Given the description of an element on the screen output the (x, y) to click on. 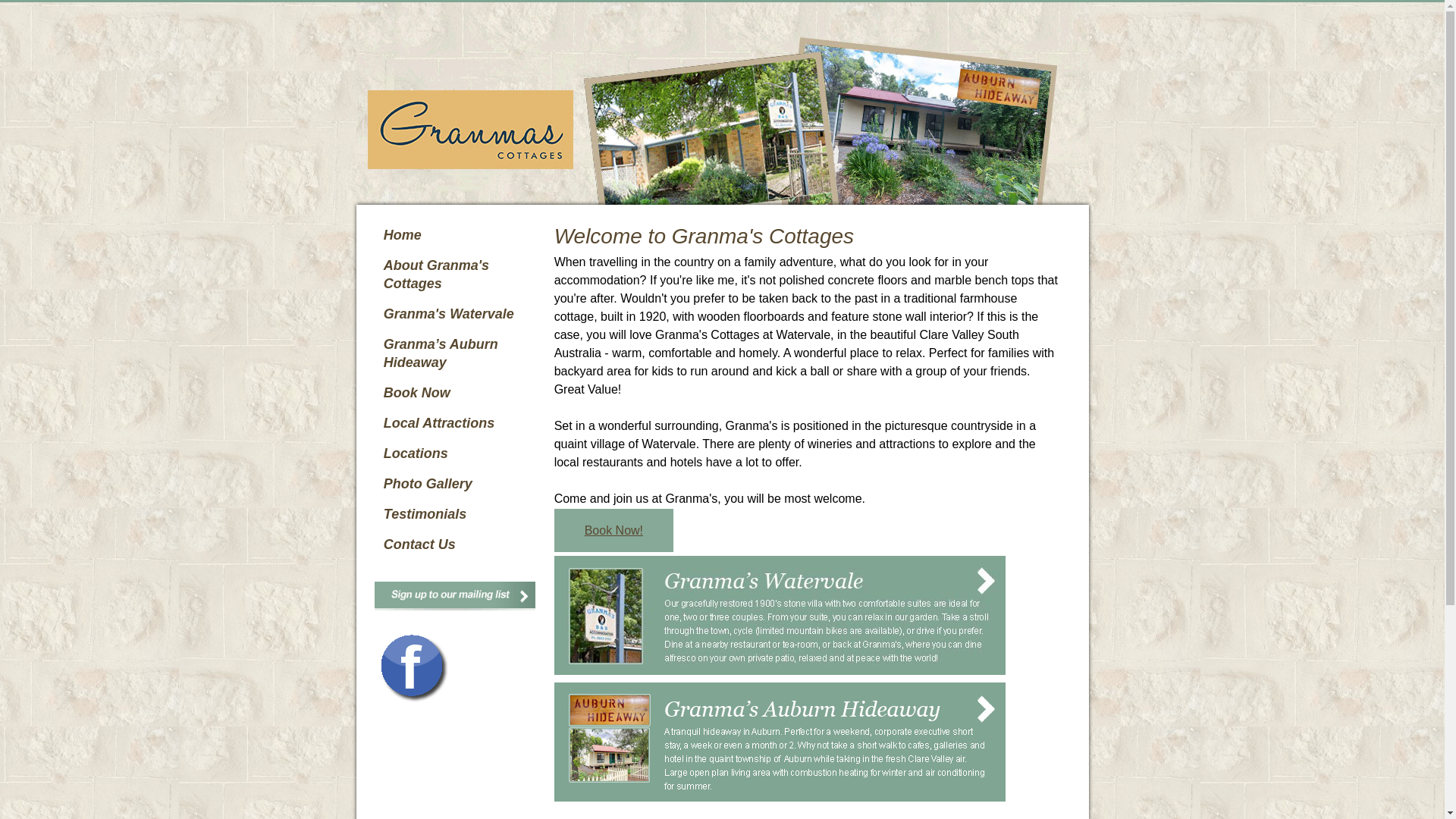
Photo Gallery Element type: text (458, 483)
Book Now Element type: text (458, 392)
Contact Us Element type: text (458, 544)
About Granma's Cottages Element type: text (458, 274)
Granma's Watervale Element type: text (458, 313)
Book Now! Element type: text (613, 530)
Testimonials Element type: text (458, 513)
Local Attractions Element type: text (458, 422)
Home Element type: text (458, 234)
Locations Element type: text (458, 453)
